Given the description of an element on the screen output the (x, y) to click on. 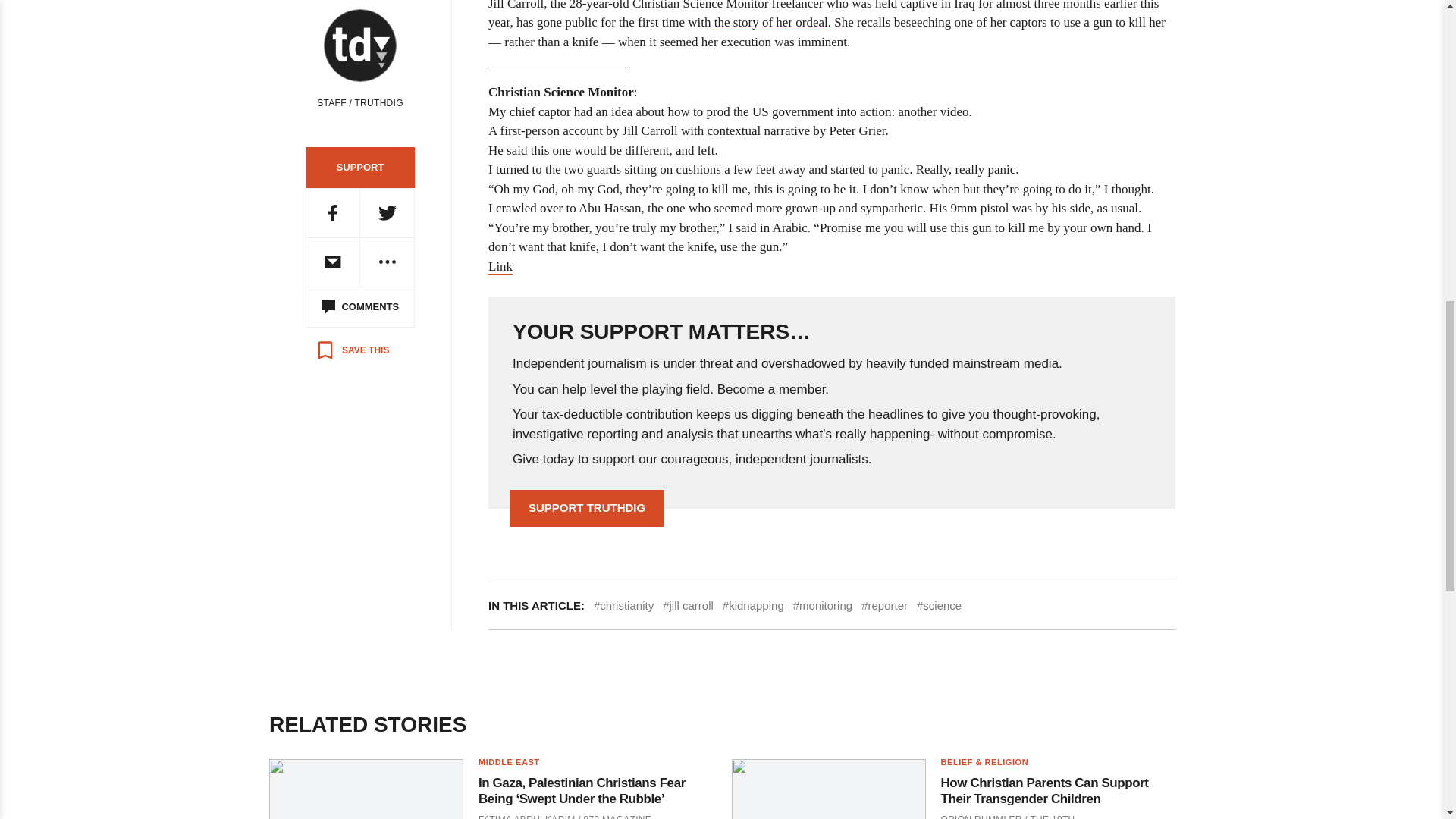
Link (499, 266)
the story of her captivity (771, 22)
Save to read later (351, 350)
